Given the description of an element on the screen output the (x, y) to click on. 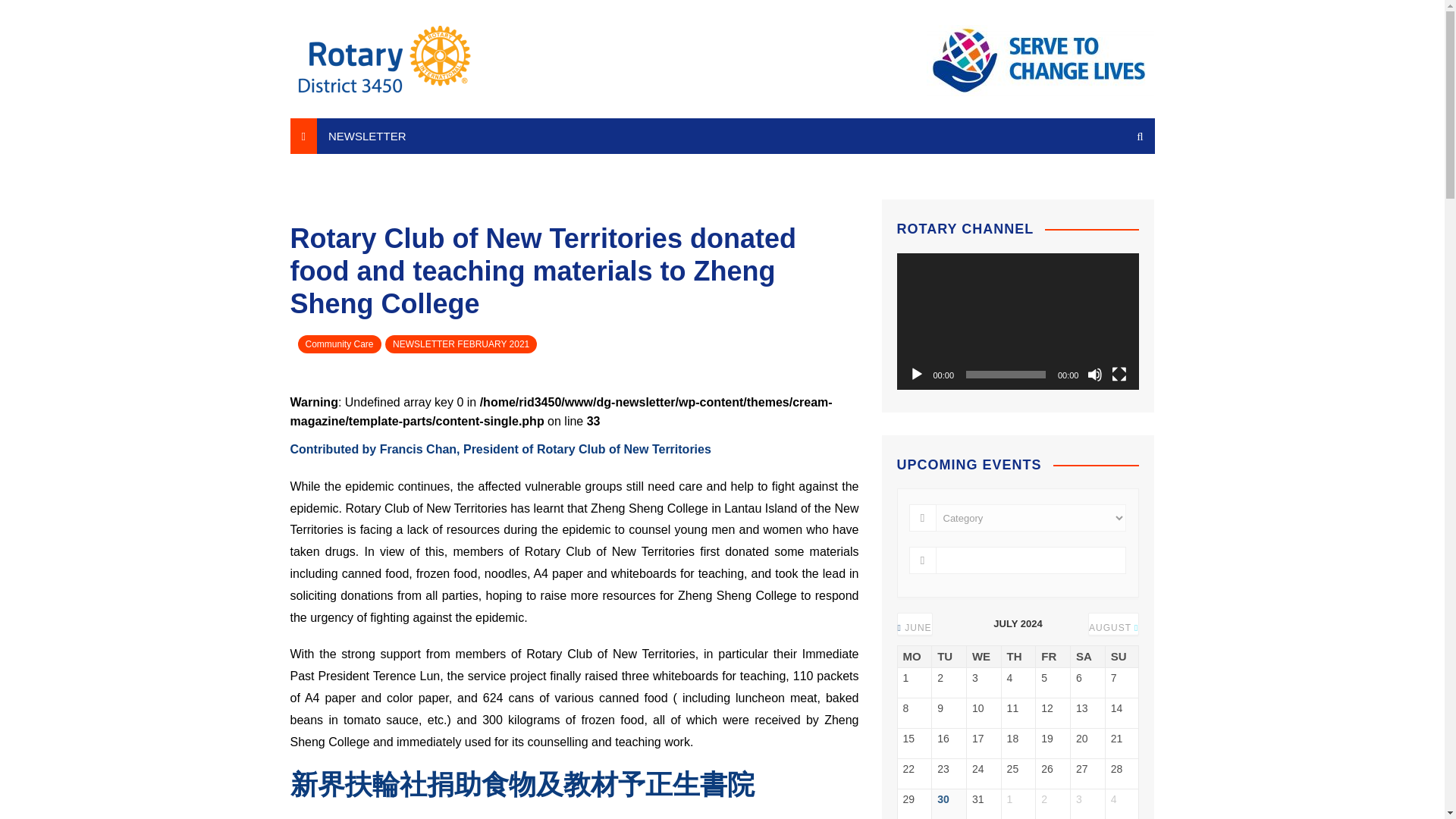
NEWSLETTER (367, 135)
Community Care (338, 343)
Fullscreen (1119, 374)
NEWSLETTER FEBRUARY 2021 (461, 343)
Play (915, 374)
Mute (1094, 374)
AUGUST (1113, 627)
JUNE (914, 627)
